Given the description of an element on the screen output the (x, y) to click on. 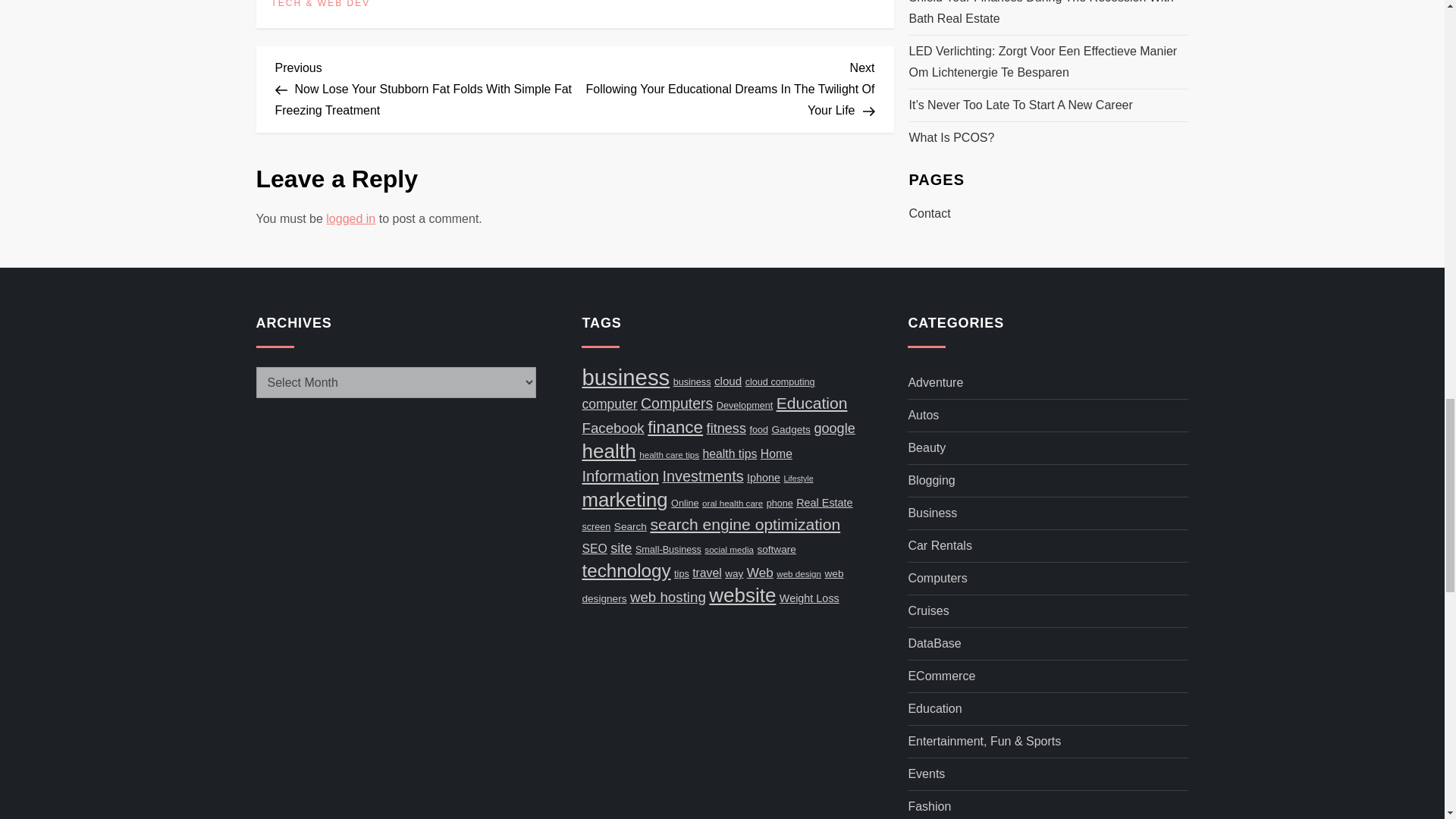
logged in (350, 218)
business (624, 376)
